Given the description of an element on the screen output the (x, y) to click on. 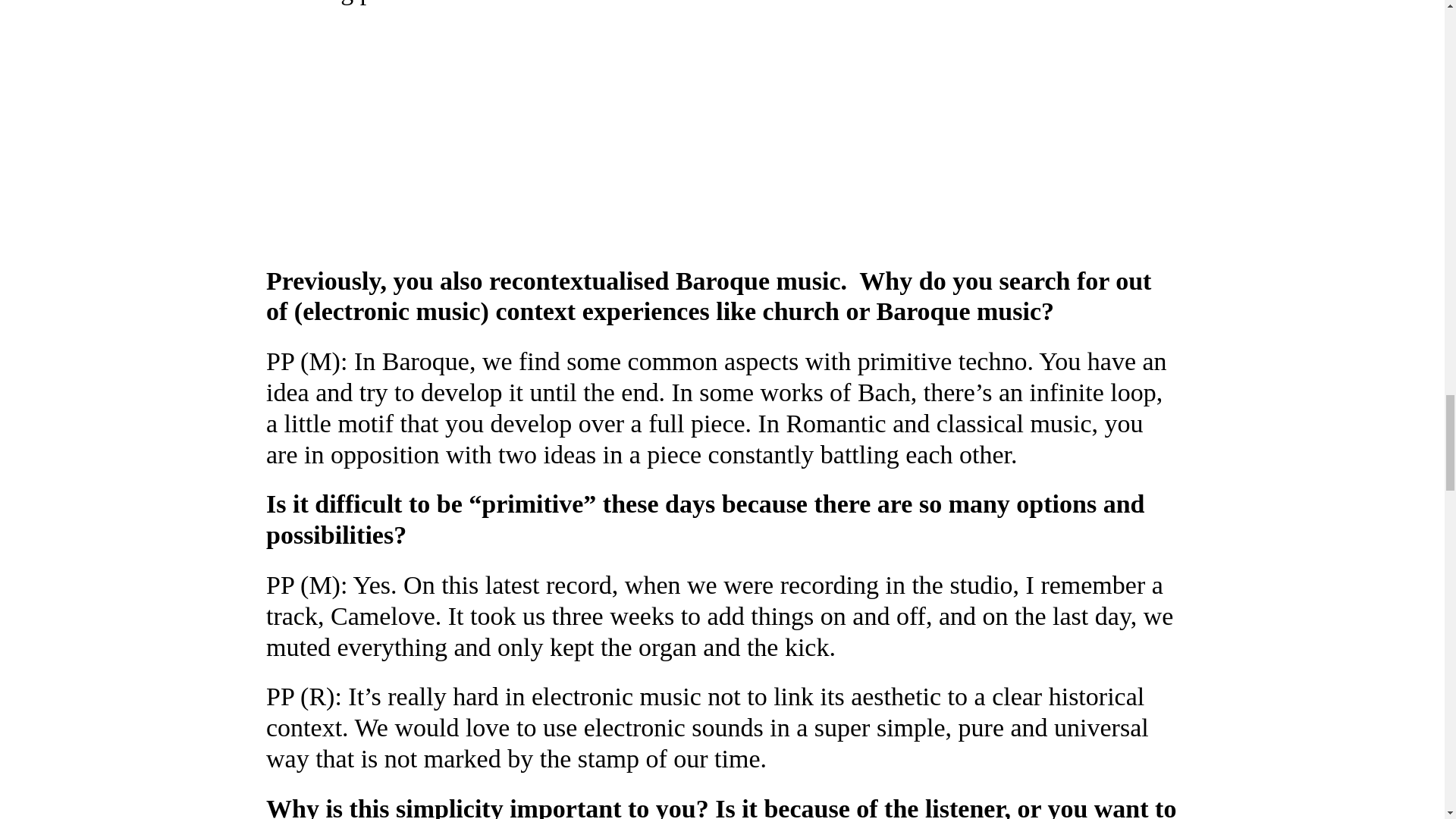
Plapla Pinky - Rave (455, 132)
